Given the description of an element on the screen output the (x, y) to click on. 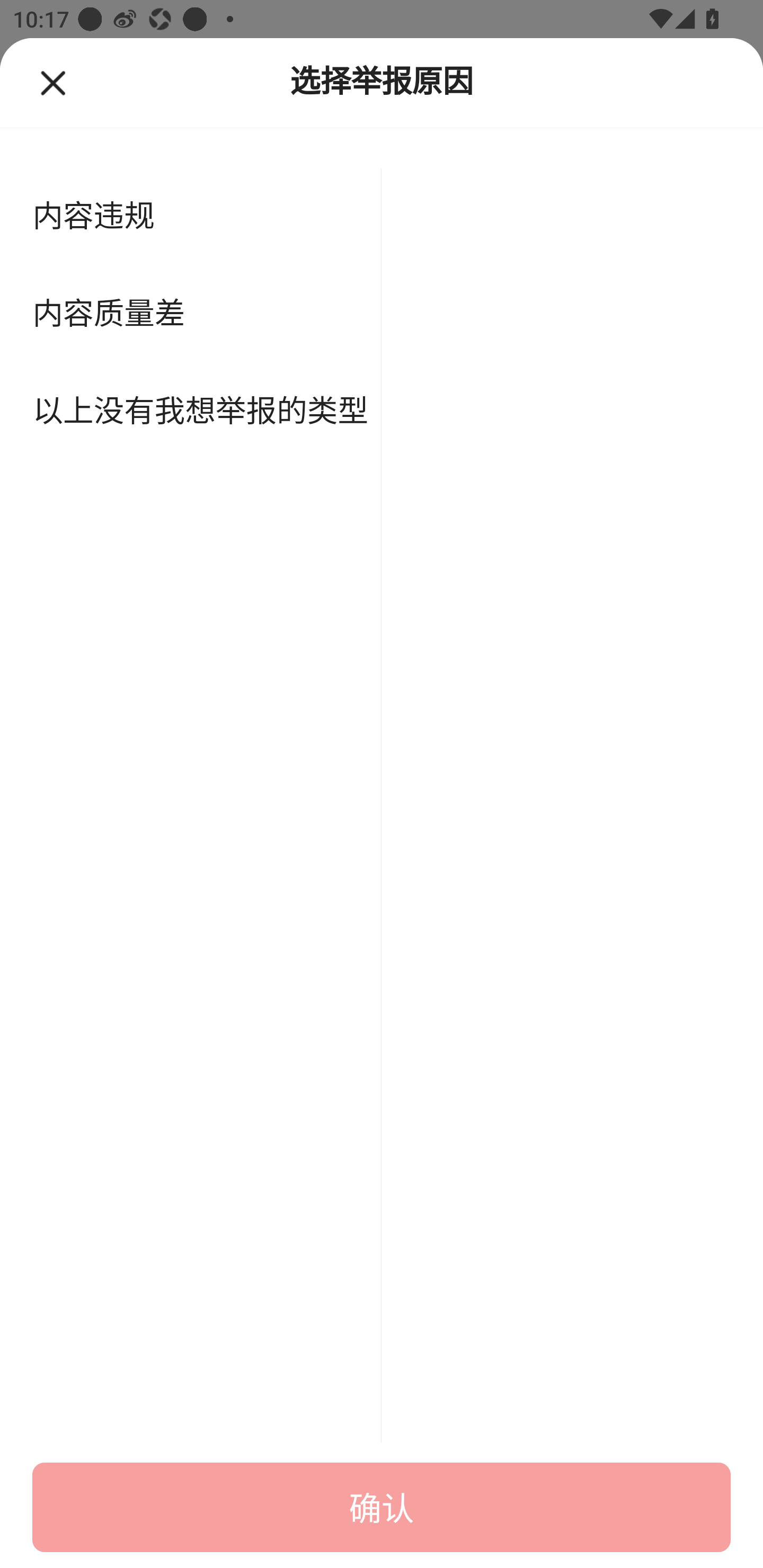
返回 (51, 83)
内容违规 (190, 216)
内容质量差 (190, 313)
以上没有我想举报的类型 (190, 412)
提交 (381, 1506)
